Given the description of an element on the screen output the (x, y) to click on. 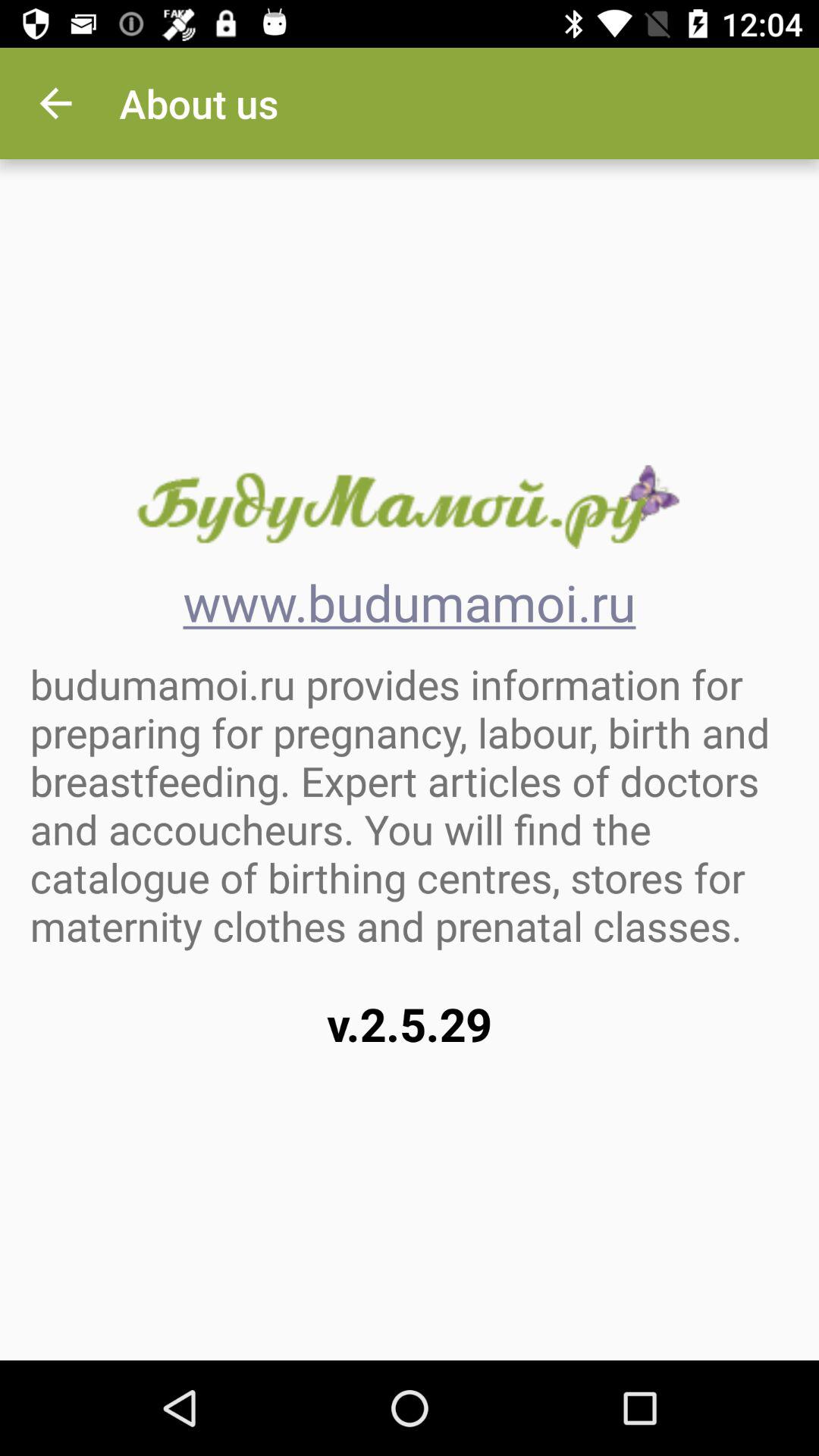
turn off icon to the left of about us app (55, 103)
